Given the description of an element on the screen output the (x, y) to click on. 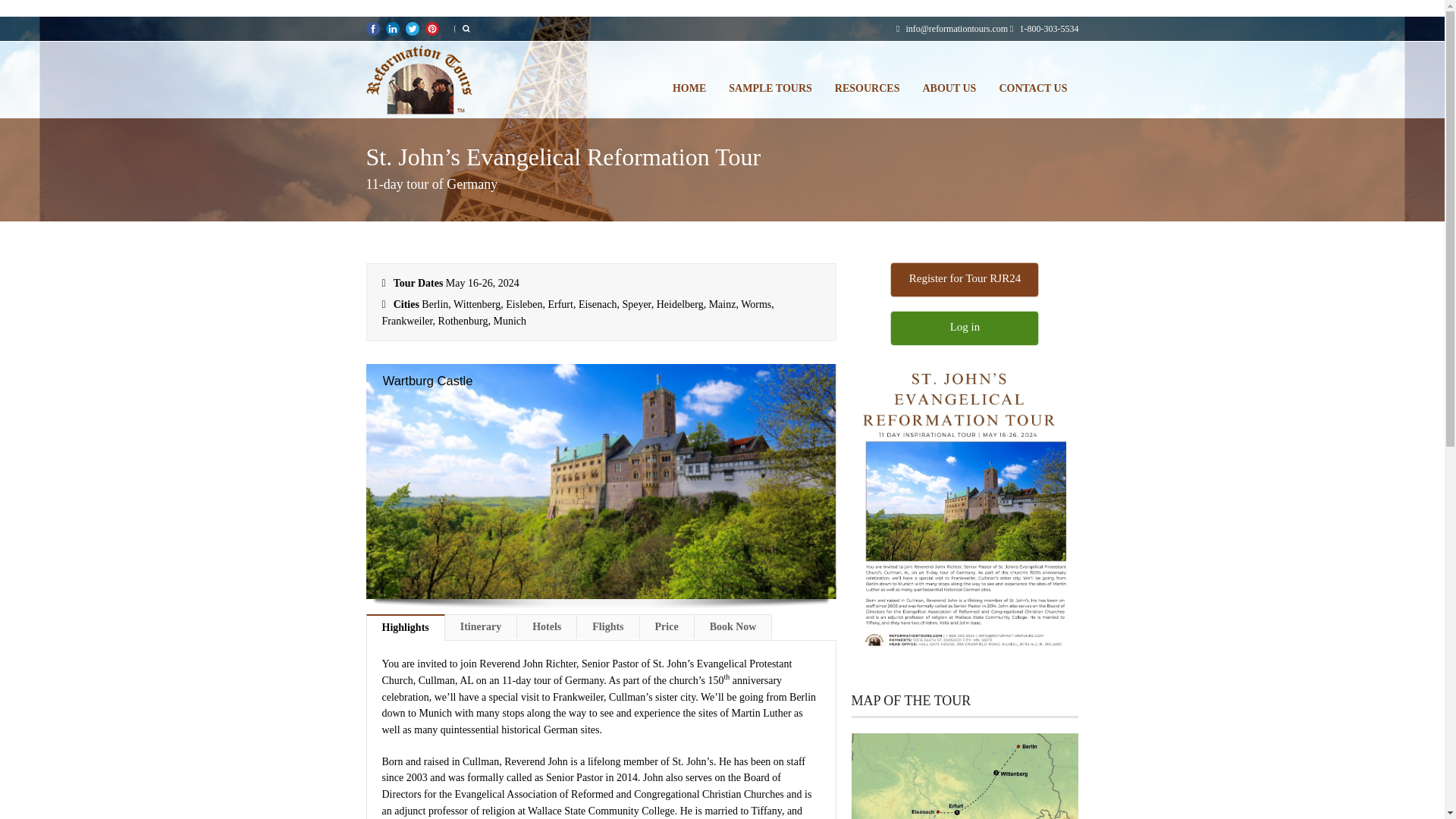
Hotels (546, 626)
ABOUT US (949, 88)
Highlights (404, 627)
Price (667, 626)
Book Now (733, 626)
Itinerary (480, 626)
HOME (689, 88)
CONTACT US (1032, 88)
RESOURCES (867, 88)
Flights (607, 626)
SAMPLE TOURS (770, 88)
